Given the description of an element on the screen output the (x, y) to click on. 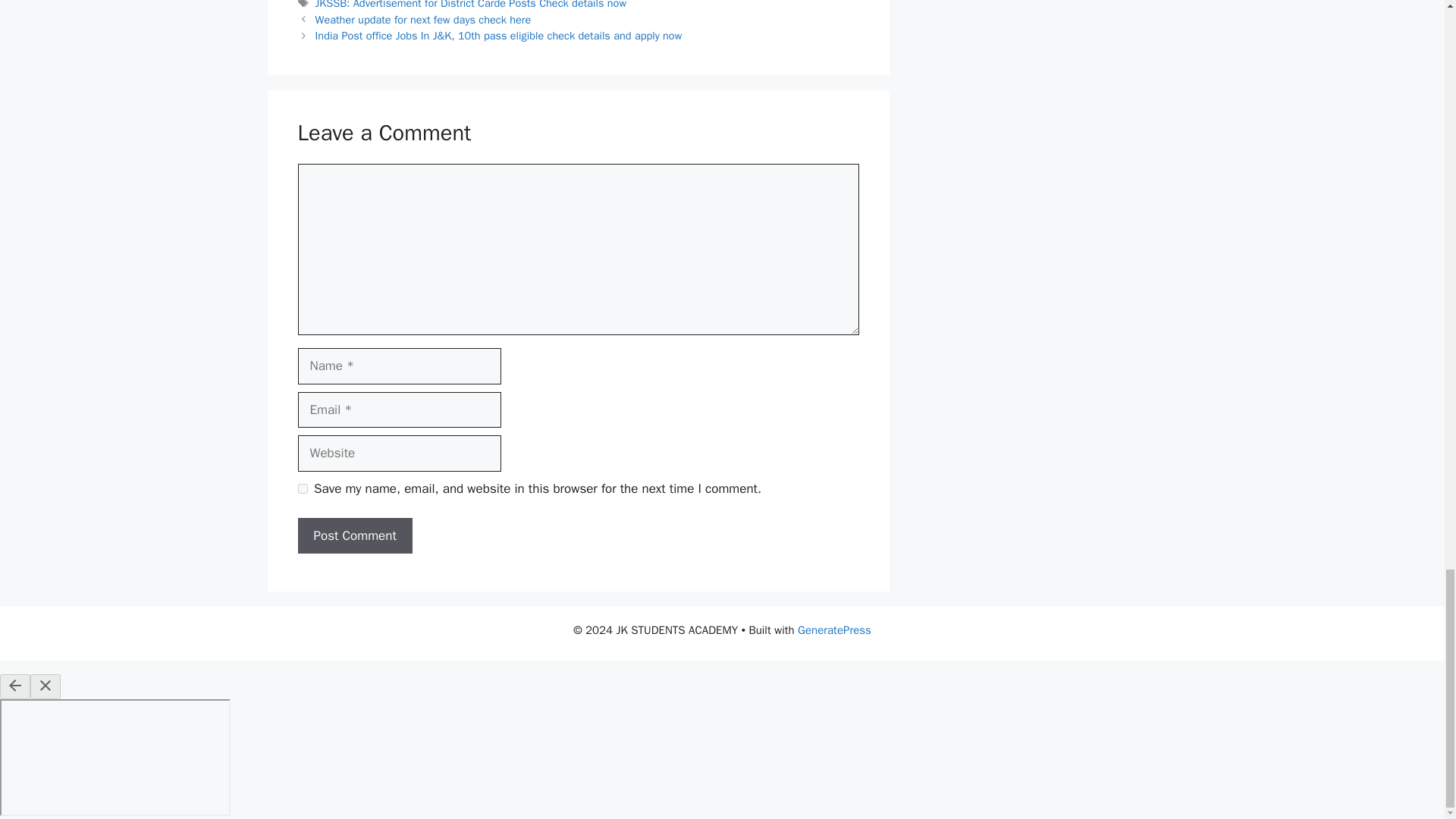
yes (302, 488)
Post Comment (354, 535)
Weather update for next few days check here  (424, 19)
Post Comment (354, 535)
